Given the description of an element on the screen output the (x, y) to click on. 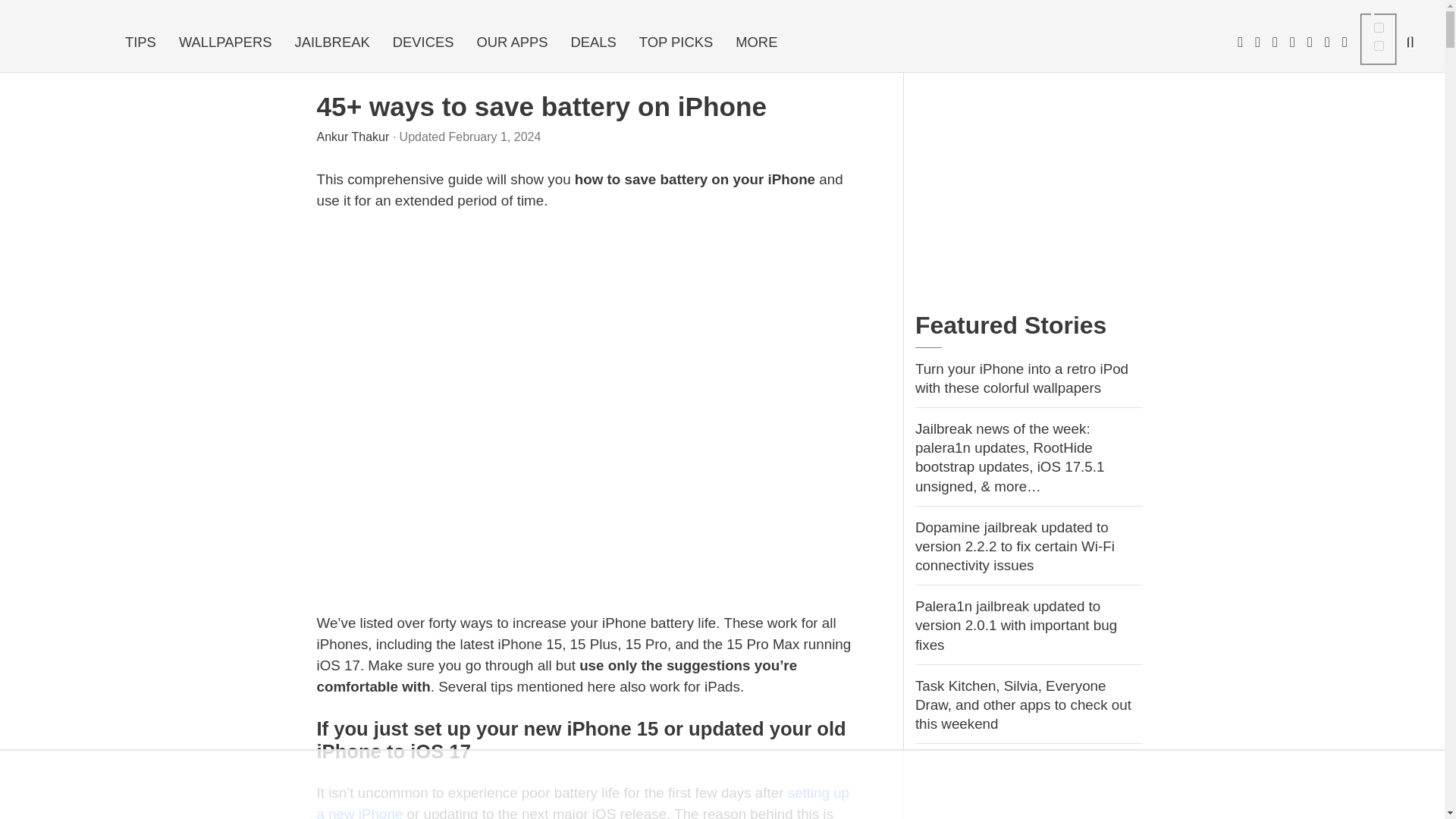
JAILBREAK (332, 42)
WALLPAPERS (225, 42)
DEVICES (423, 42)
Tips (140, 42)
TIPS (140, 42)
Wallpapers (225, 42)
OUR APPS (511, 42)
